Given the description of an element on the screen output the (x, y) to click on. 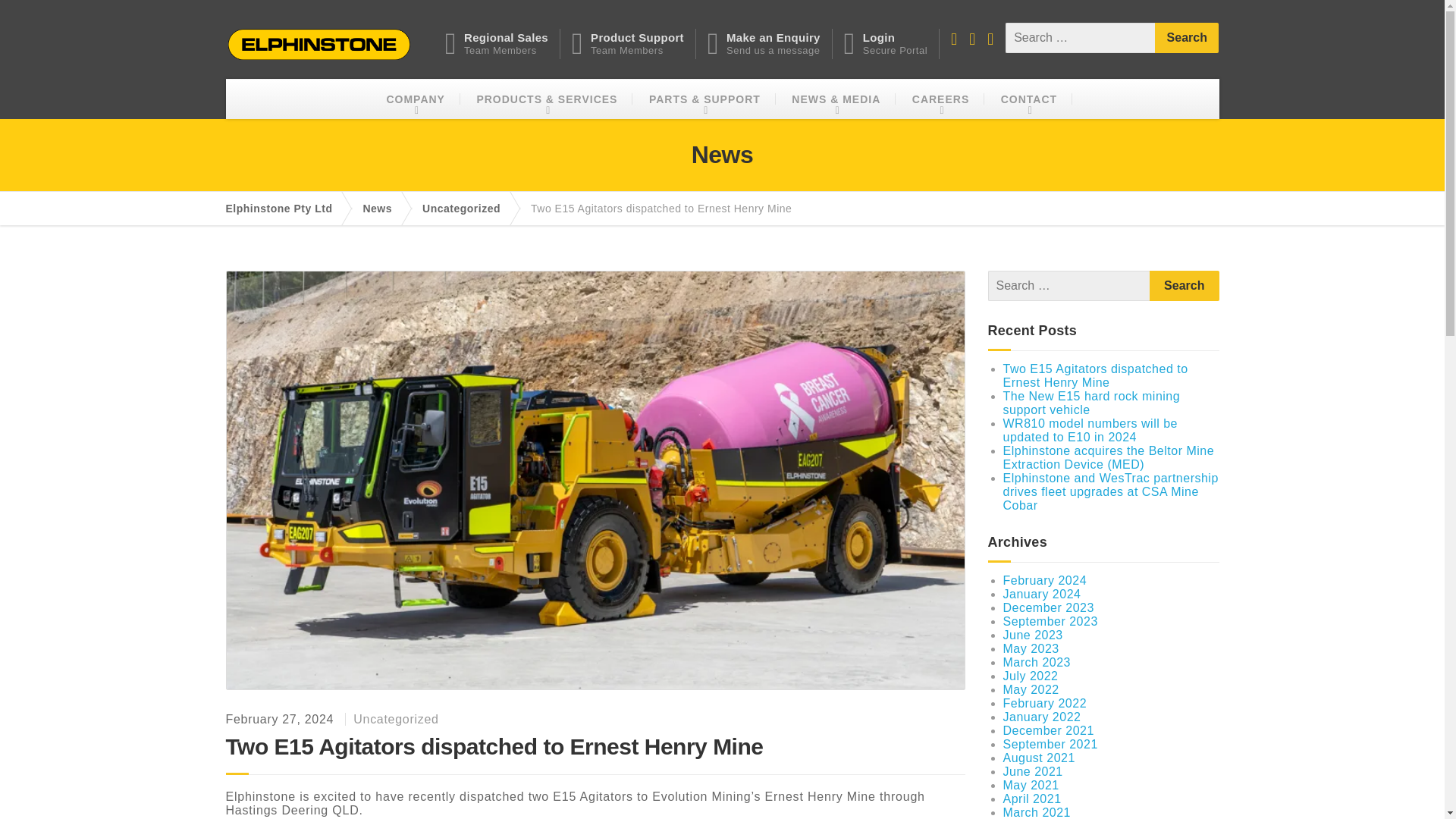
Go to Elphinstone Pty Ltd. (286, 208)
Go to News. (633, 43)
Search (384, 208)
Search (1186, 37)
Go to the Uncategorized Category archives. (502, 43)
Search (1185, 286)
Search (891, 43)
COMPANY (468, 208)
Search (1185, 286)
